Given the description of an element on the screen output the (x, y) to click on. 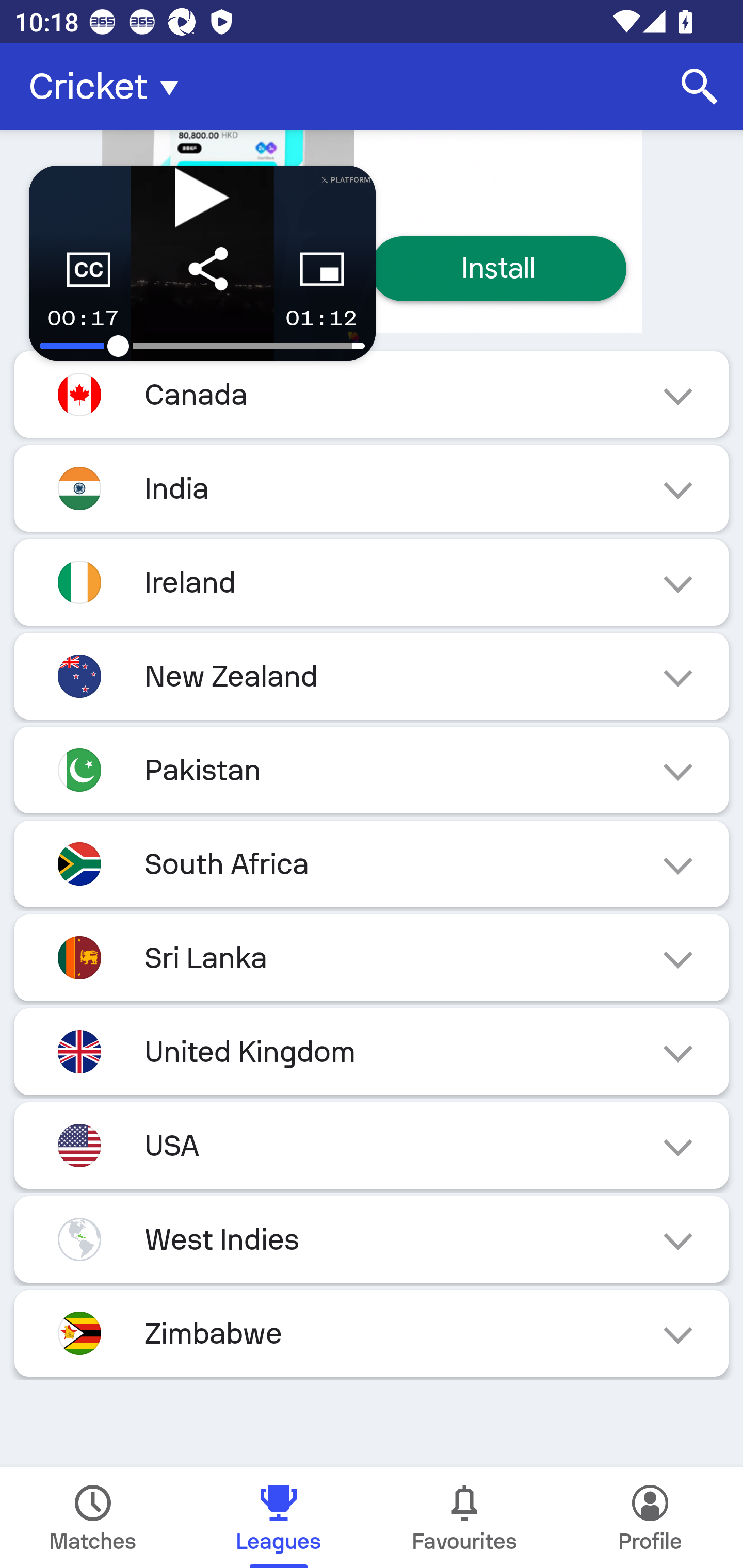
Cricket (109, 86)
Search (699, 86)
Install (498, 268)
Canada (371, 394)
India (371, 488)
Ireland (371, 582)
New Zealand (371, 676)
Pakistan (371, 769)
South Africa (371, 863)
Sri Lanka (371, 957)
United Kingdom (371, 1051)
USA (371, 1145)
West Indies (371, 1239)
Zimbabwe (371, 1333)
Matches (92, 1517)
Favourites (464, 1517)
Profile (650, 1517)
